Given the description of an element on the screen output the (x, y) to click on. 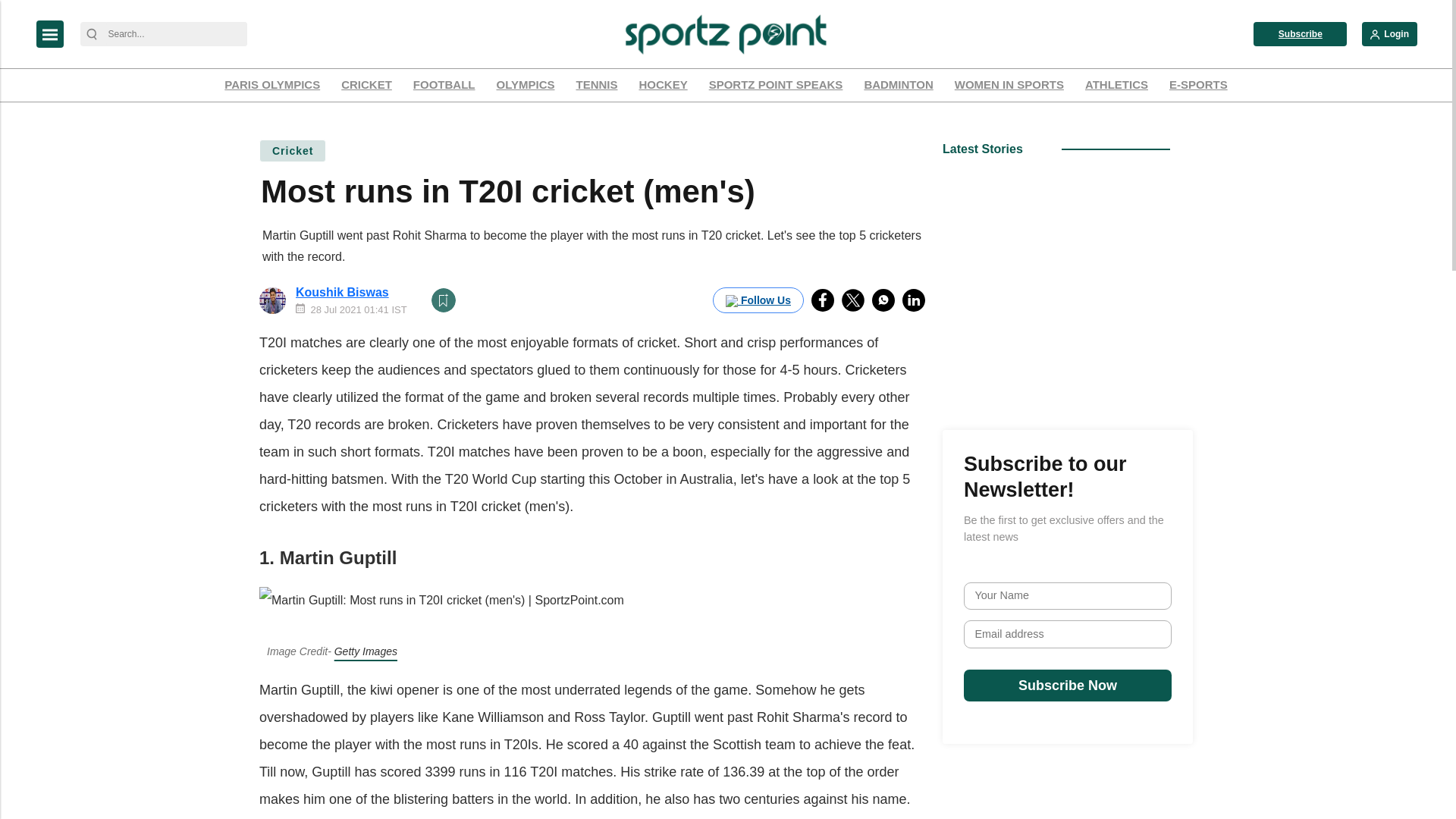
Cricket (292, 150)
HOCKEY (663, 84)
Koushik Biswas (341, 291)
PARIS OLYMPICS (271, 84)
Follow Us (758, 299)
FOOTBALL (443, 84)
ATHLETICS (1116, 84)
CRICKET (366, 84)
OLYMPICS (526, 84)
Subscribe (1299, 33)
Login (1388, 33)
BADMINTON (898, 84)
E-SPORTS (1198, 84)
TENNIS (596, 84)
SPORTZ POINT SPEAKS (775, 84)
